Given the description of an element on the screen output the (x, y) to click on. 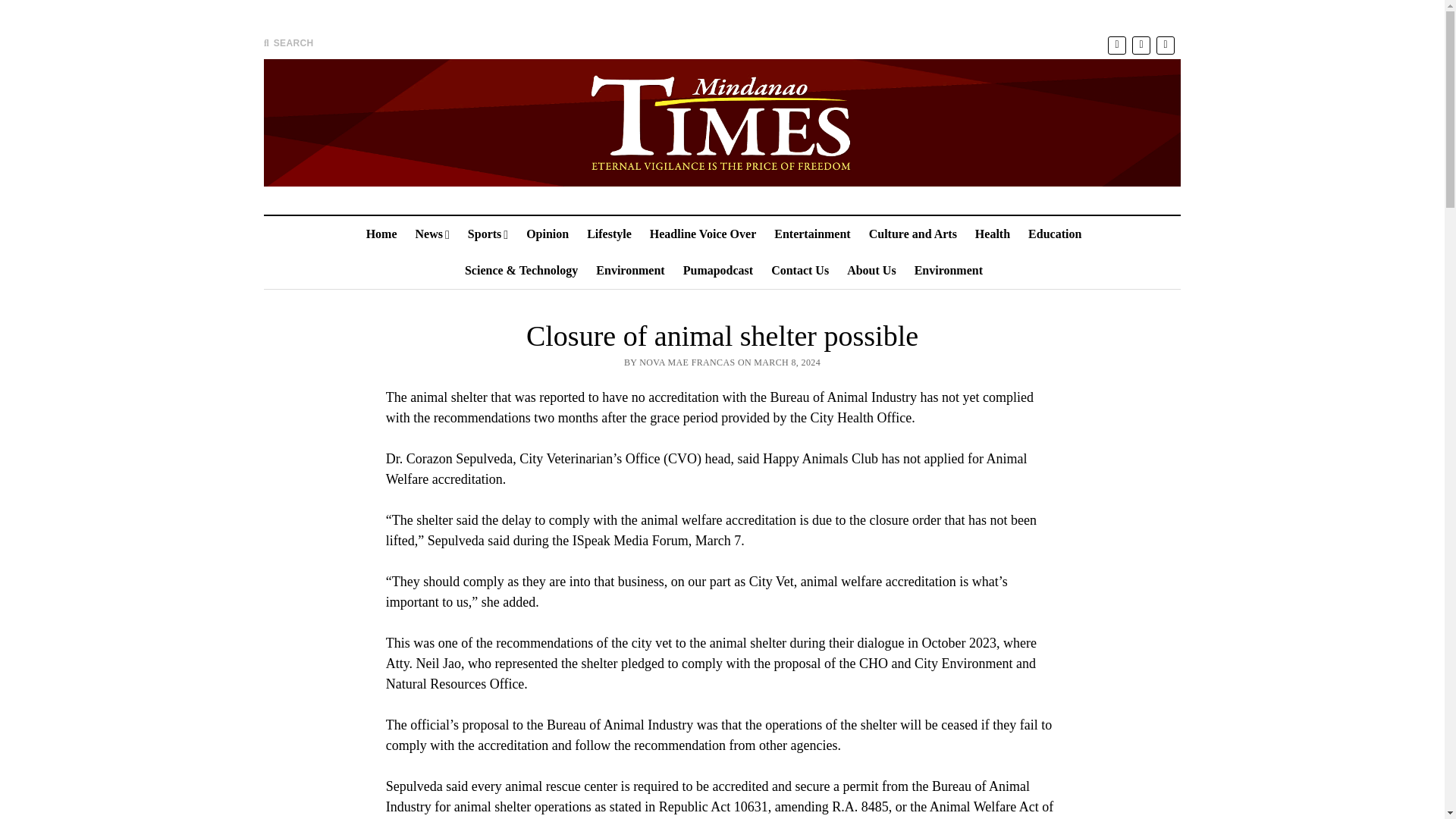
About Us (871, 270)
Headline Voice Over (702, 234)
Health (992, 234)
Home (381, 234)
SEARCH (288, 42)
Lifestyle (609, 234)
Environment (948, 270)
Pumapodcast (717, 270)
Opinion (547, 234)
Contact Us (799, 270)
